Given the description of an element on the screen output the (x, y) to click on. 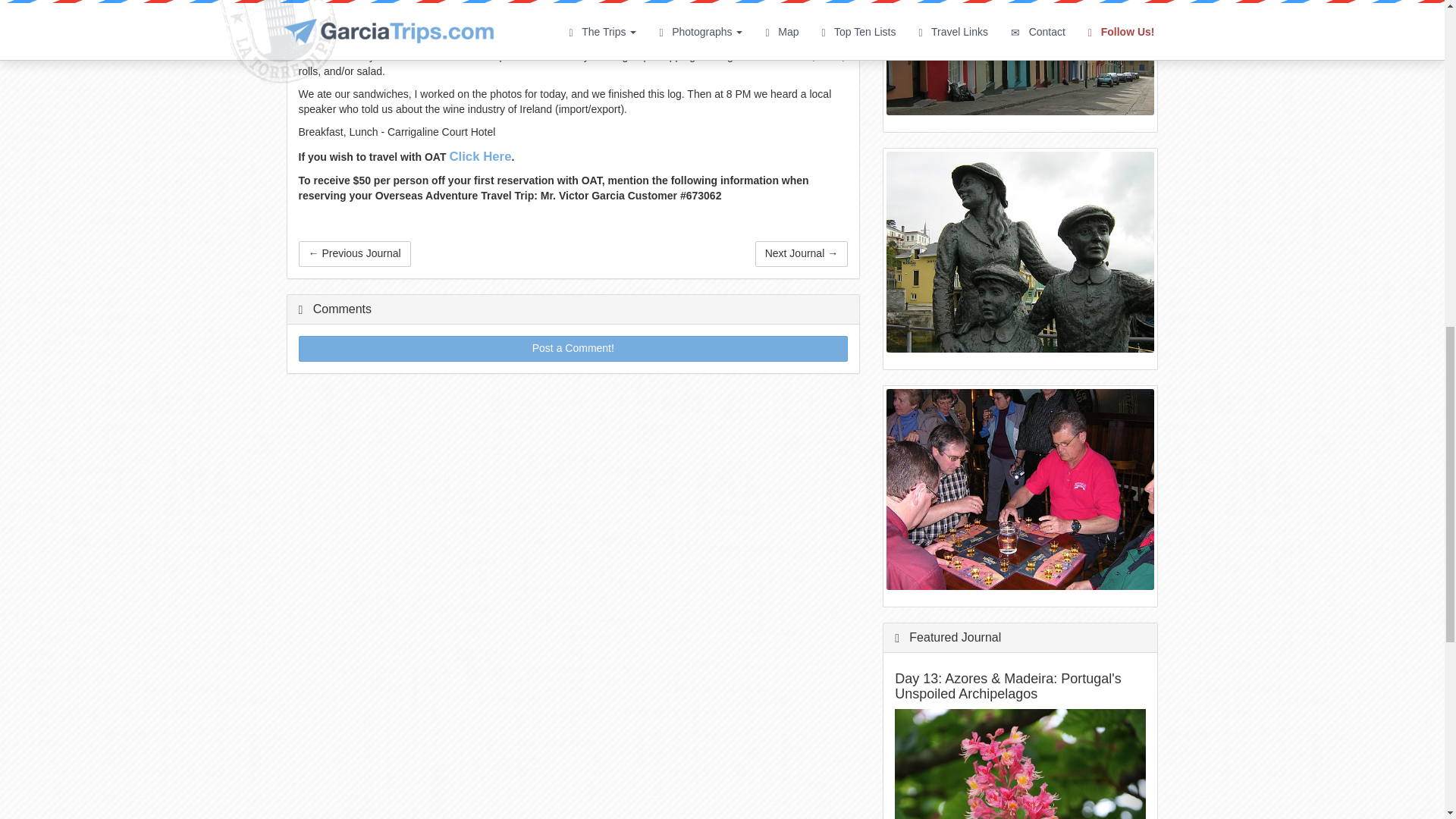
Click Here (479, 156)
Post a Comment! (573, 348)
